Given the description of an element on the screen output the (x, y) to click on. 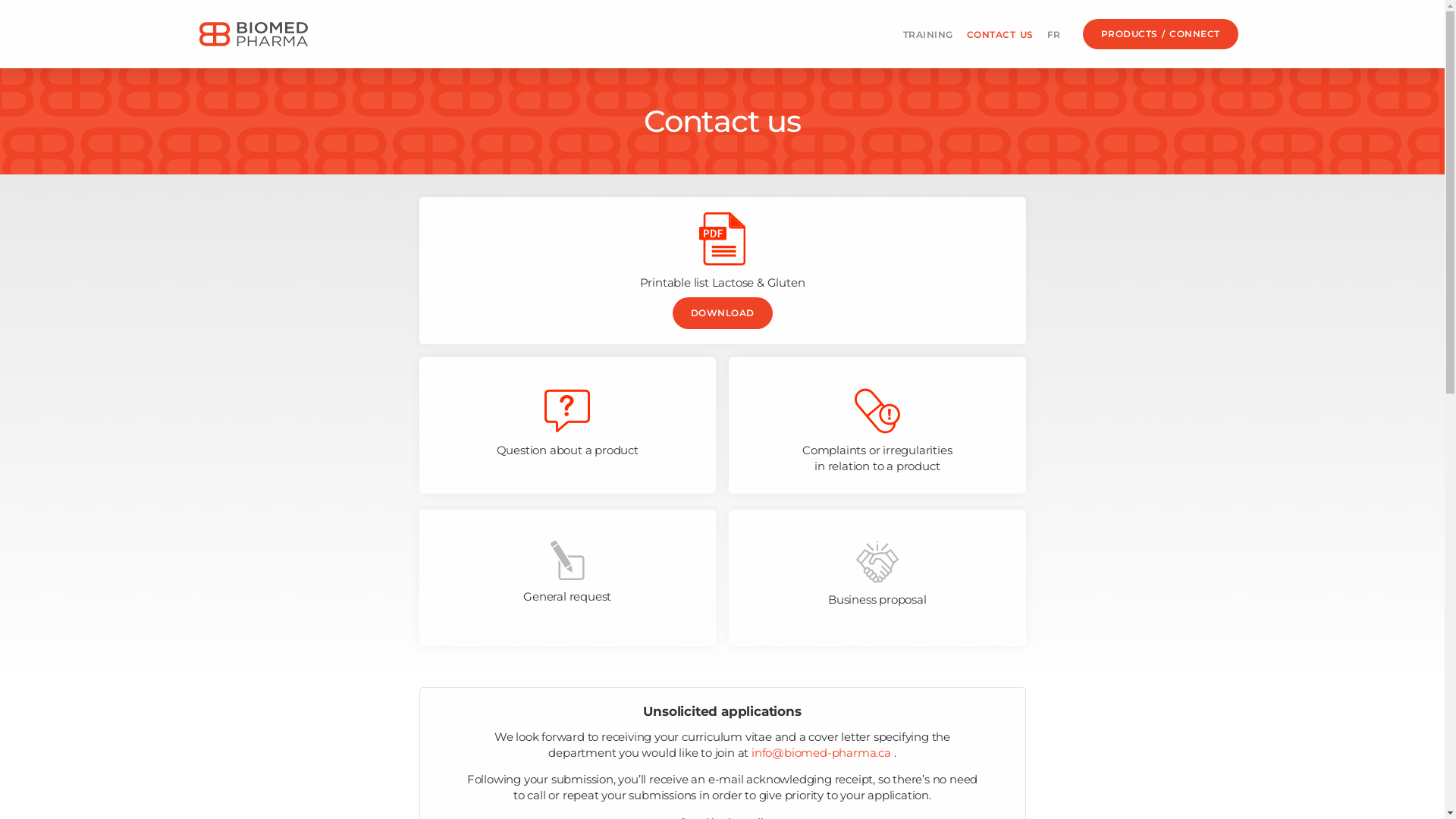
General request Element type: text (566, 577)
FR Element type: text (1053, 34)
Question about a product Element type: text (566, 425)
DOWNLOAD Element type: text (721, 313)
Business proposal Element type: text (877, 577)
PRODUCTS / CONNECT Element type: text (1160, 34)
Complaints or irregularities
in relation to a product Element type: text (877, 425)
info@biomed-pharma.ca Element type: text (821, 752)
CONTACT US Element type: text (1000, 34)
TRAINING Element type: text (928, 34)
